Given the description of an element on the screen output the (x, y) to click on. 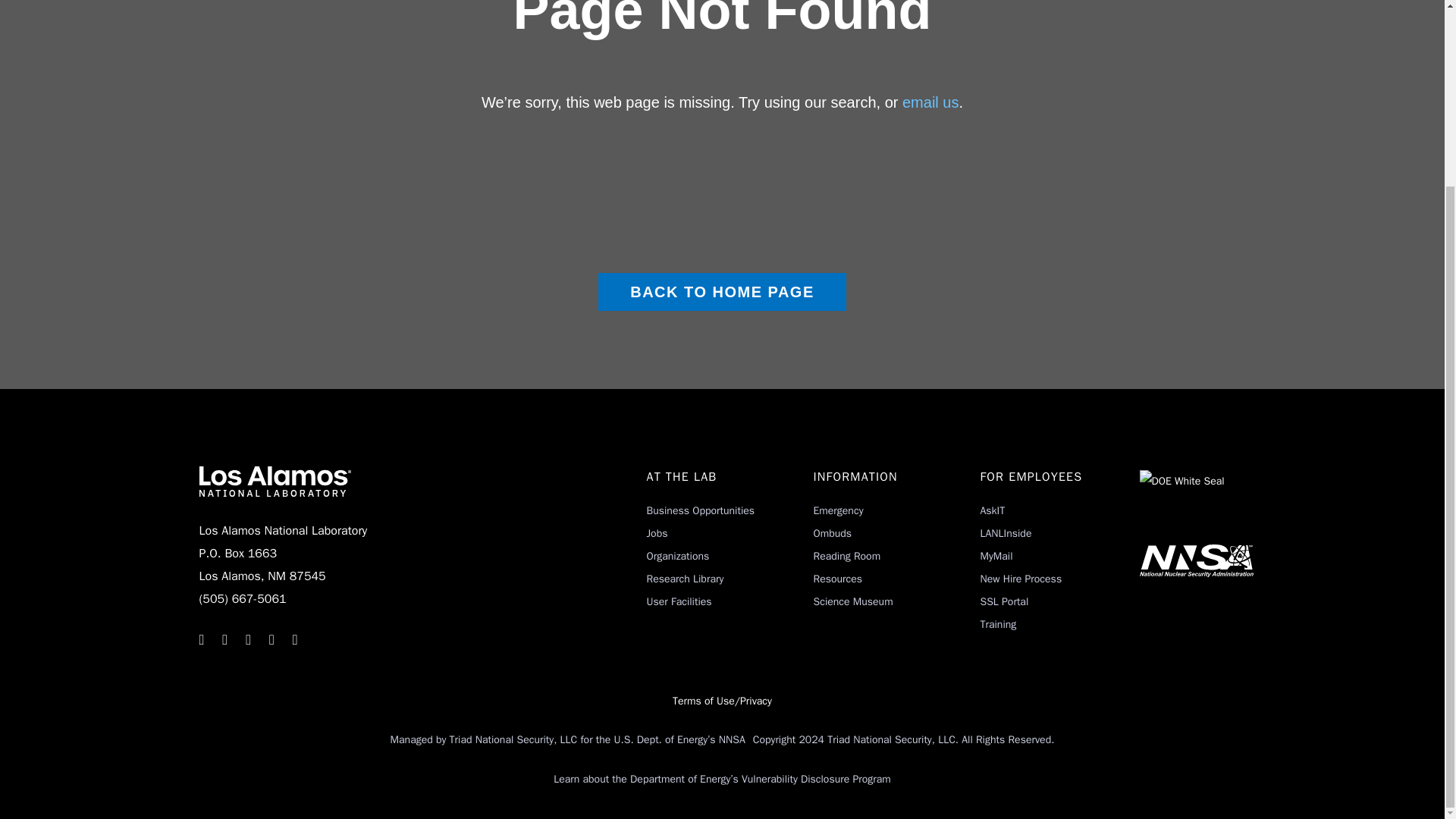
Jobs (656, 533)
Reading Room (846, 555)
Organizations (677, 555)
AskIT (991, 510)
Emergency (837, 510)
Ombuds (831, 533)
Science Museum (852, 601)
Business Opportunities (700, 510)
email us (930, 102)
Research Library (684, 578)
